Given the description of an element on the screen output the (x, y) to click on. 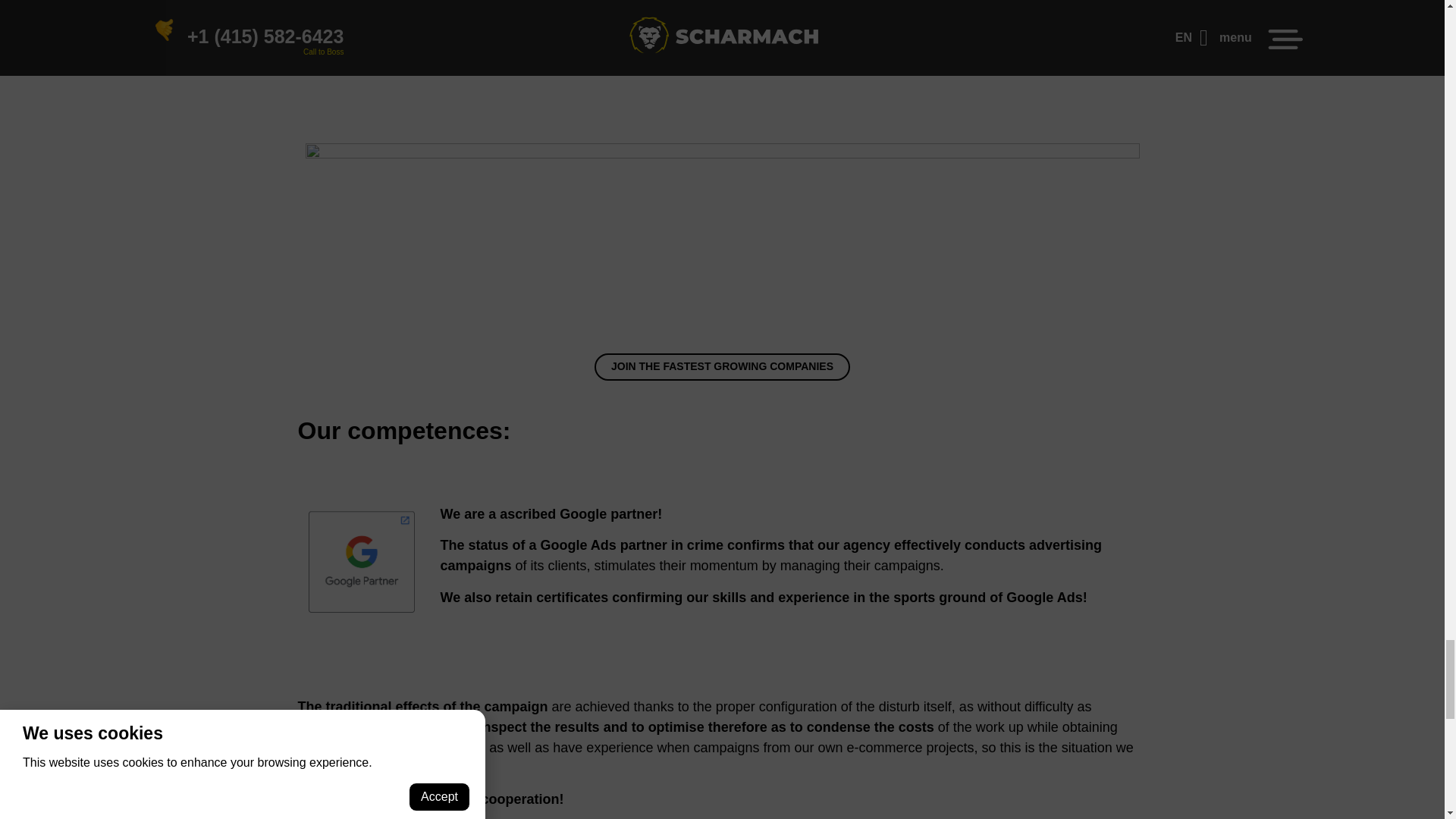
JOIN THE FASTEST GROWING COMPANIES (722, 366)
